Given the description of an element on the screen output the (x, y) to click on. 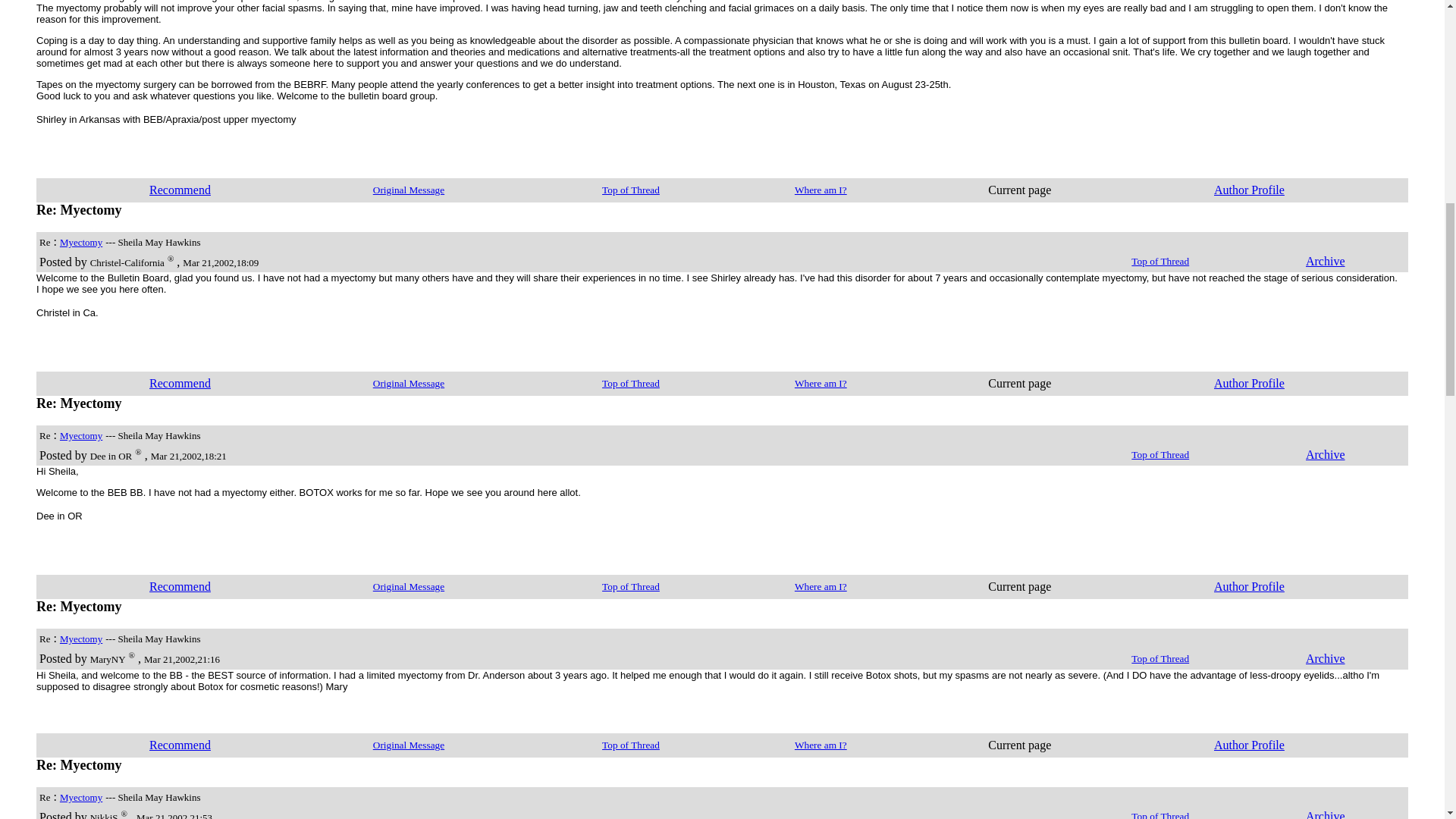
Author Profile (1249, 189)
Myectomy (80, 241)
Top of Thread (630, 188)
Current page (1019, 189)
Re: Myectomy (78, 209)
Recommend (180, 189)
Top of Thread (1160, 259)
Where am I? (820, 188)
Original Message (408, 188)
